Given the description of an element on the screen output the (x, y) to click on. 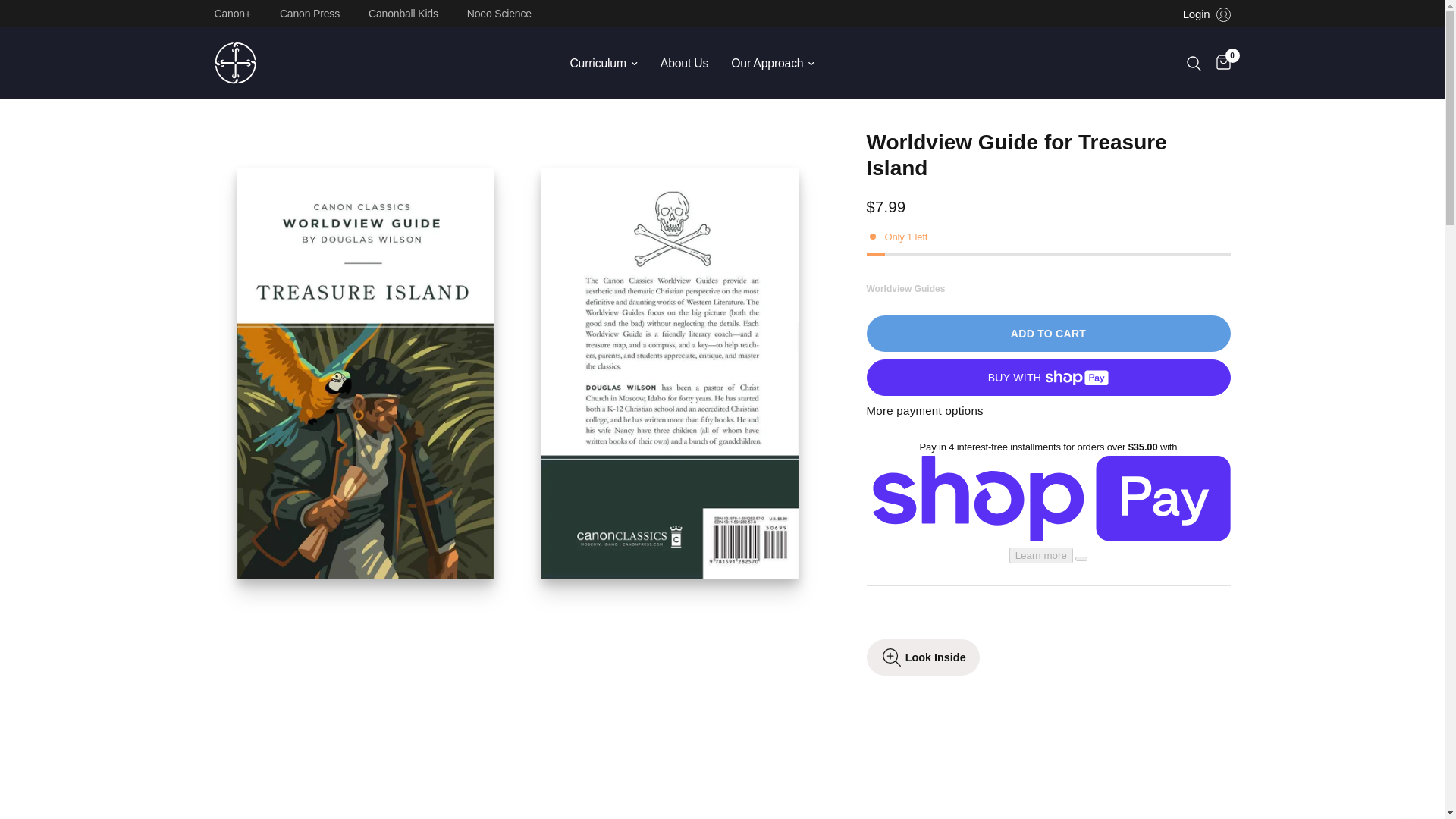
Login (1206, 13)
Noeo Science (502, 13)
Canon Press (313, 13)
Canonball Kids (406, 13)
